Given the description of an element on the screen output the (x, y) to click on. 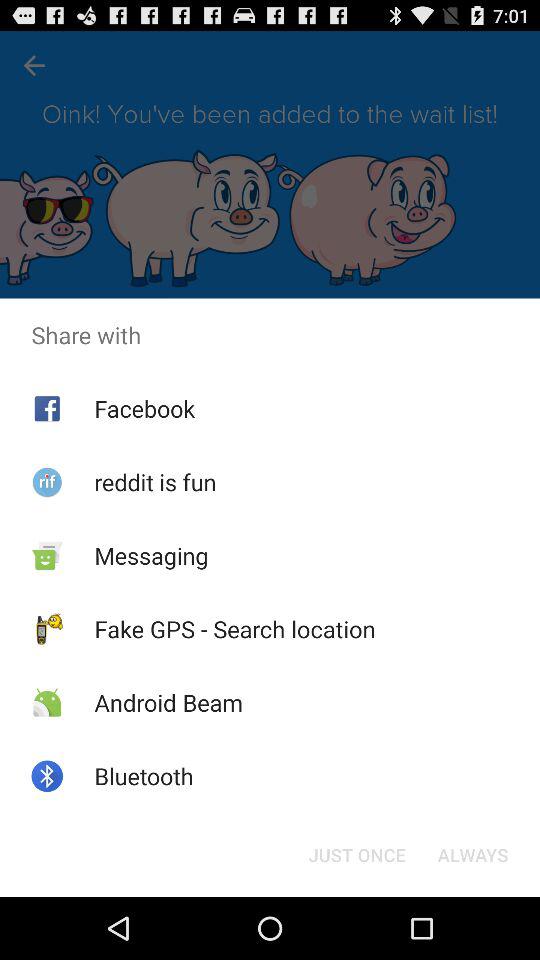
turn off facebook (144, 408)
